Given the description of an element on the screen output the (x, y) to click on. 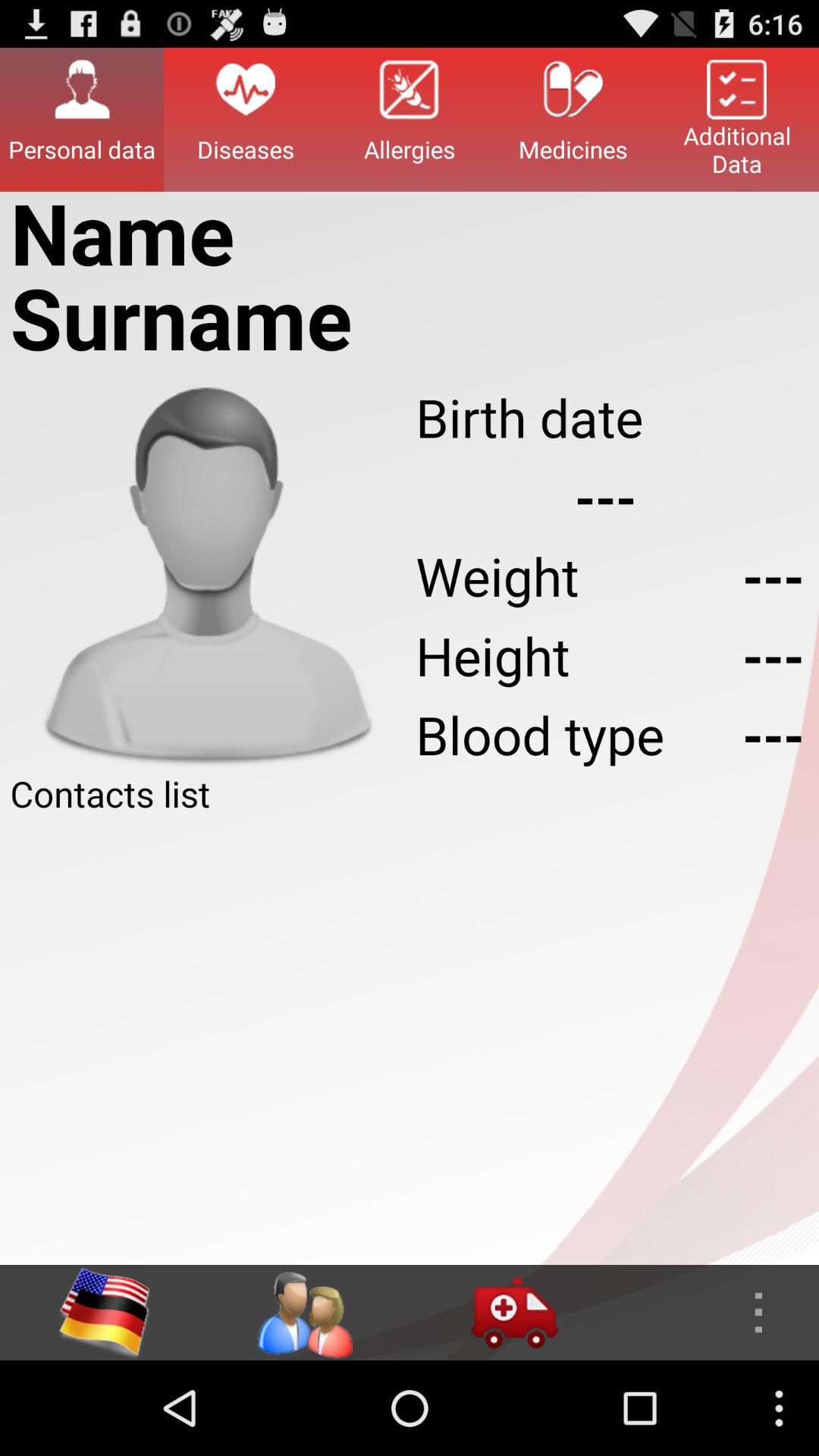
open the button next to personal data item (245, 119)
